Given the description of an element on the screen output the (x, y) to click on. 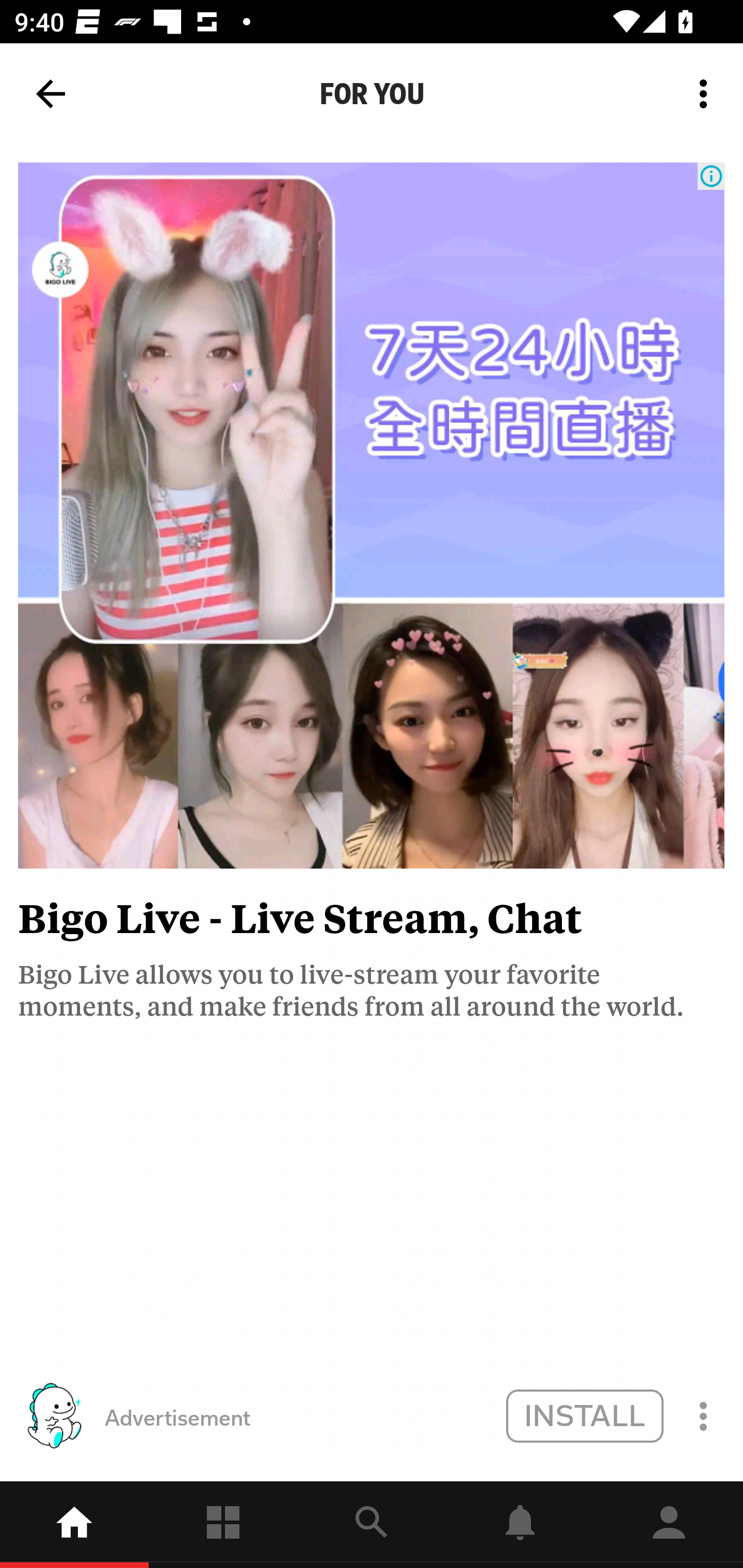
Back (50, 93)
FOR YOU (371, 93)
More options (706, 93)
Ad Choices Icon (711, 176)
INSTALL (584, 1415)
home (74, 1524)
Following (222, 1524)
explore (371, 1524)
Notifications (519, 1524)
Profile (668, 1524)
